Given the description of an element on the screen output the (x, y) to click on. 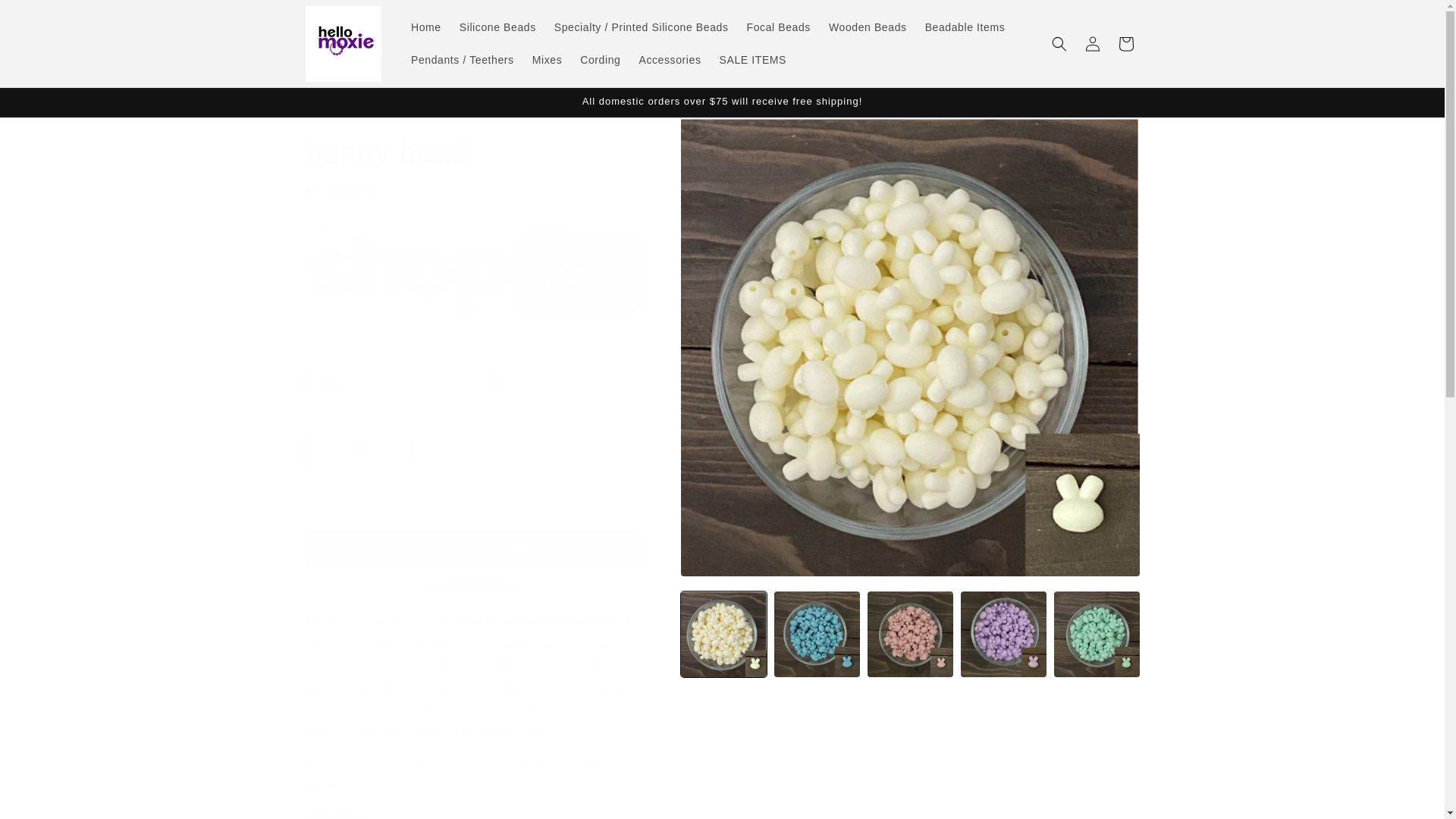
Skip to content (45, 17)
Cart (1124, 43)
Log in (1091, 43)
Wooden Beads (867, 27)
1 (358, 449)
Focal Beads (778, 27)
Silicone Beads (496, 27)
Beadable Items (964, 27)
Mixes (547, 60)
Accessories (669, 60)
Home (425, 27)
Cording (599, 60)
SALE ITEMS (752, 60)
